Given the description of an element on the screen output the (x, y) to click on. 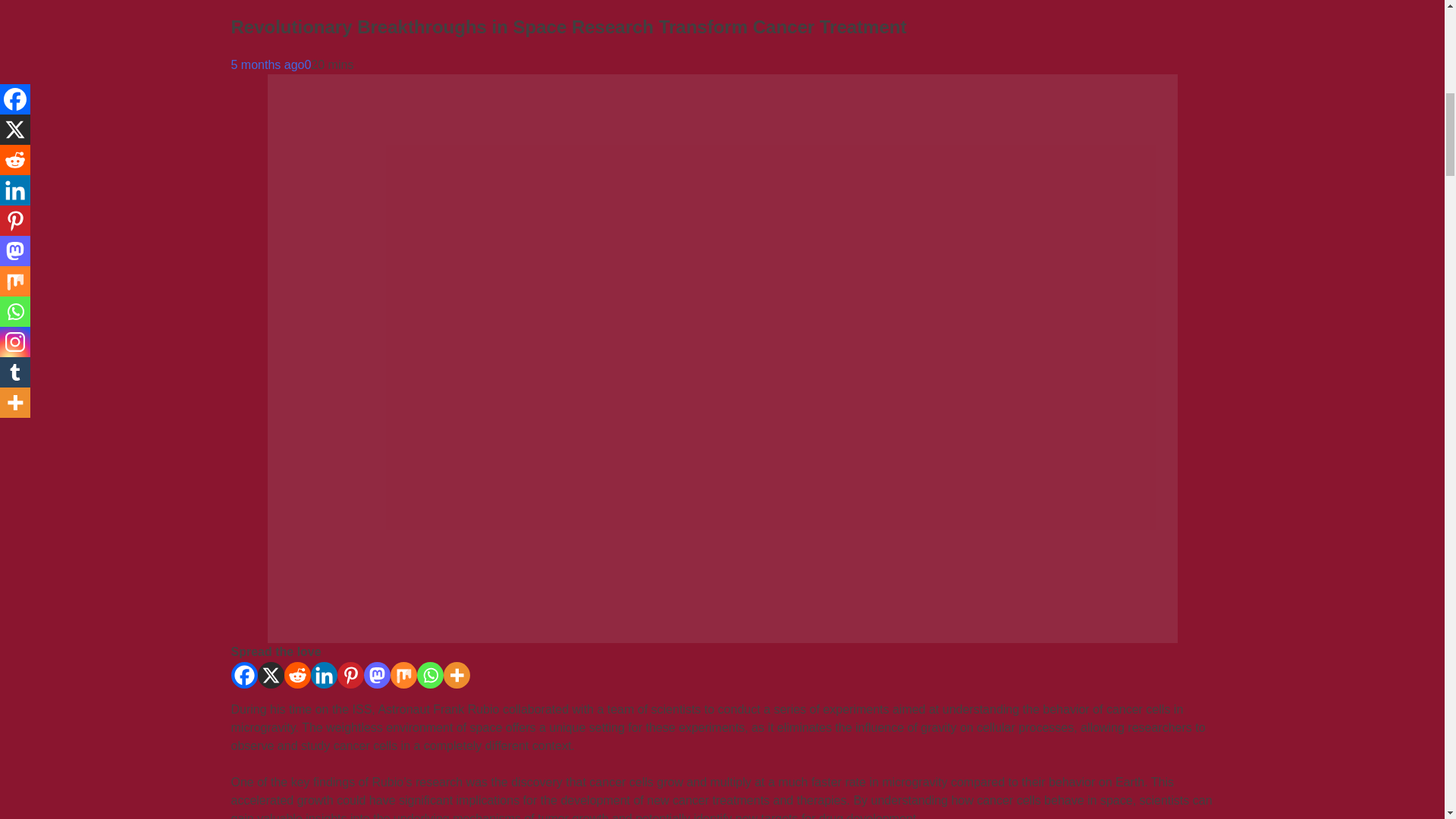
Mastodon (377, 674)
Mix (403, 674)
Whatsapp (430, 674)
Reddit (296, 674)
Pinterest (349, 674)
Facebook (243, 674)
X (270, 674)
Linkedin (324, 674)
